Given the description of an element on the screen output the (x, y) to click on. 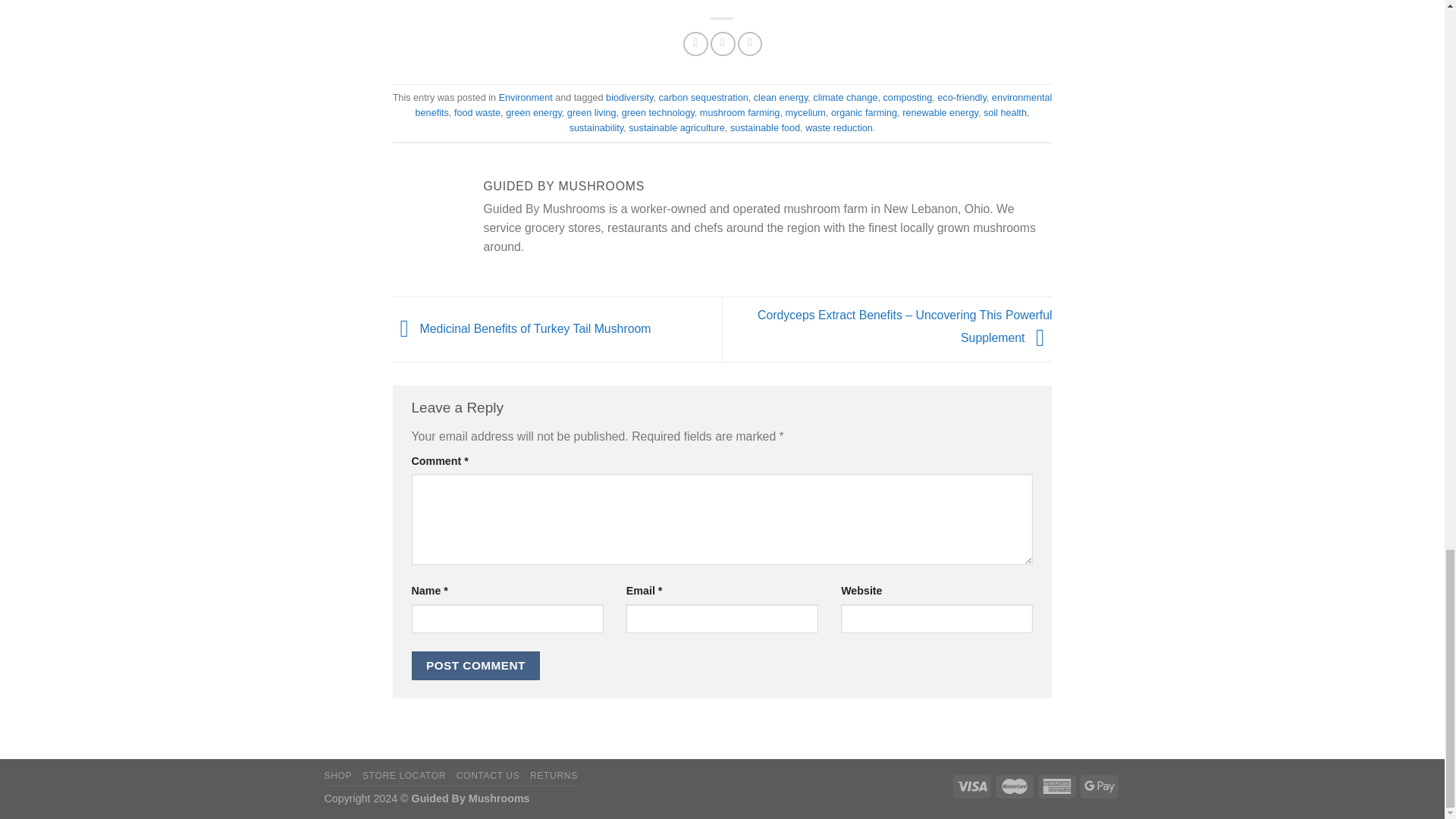
Share on Facebook (694, 43)
Share on LinkedIn (750, 43)
Post Comment (475, 665)
Email to a Friend (722, 43)
